Given the description of an element on the screen output the (x, y) to click on. 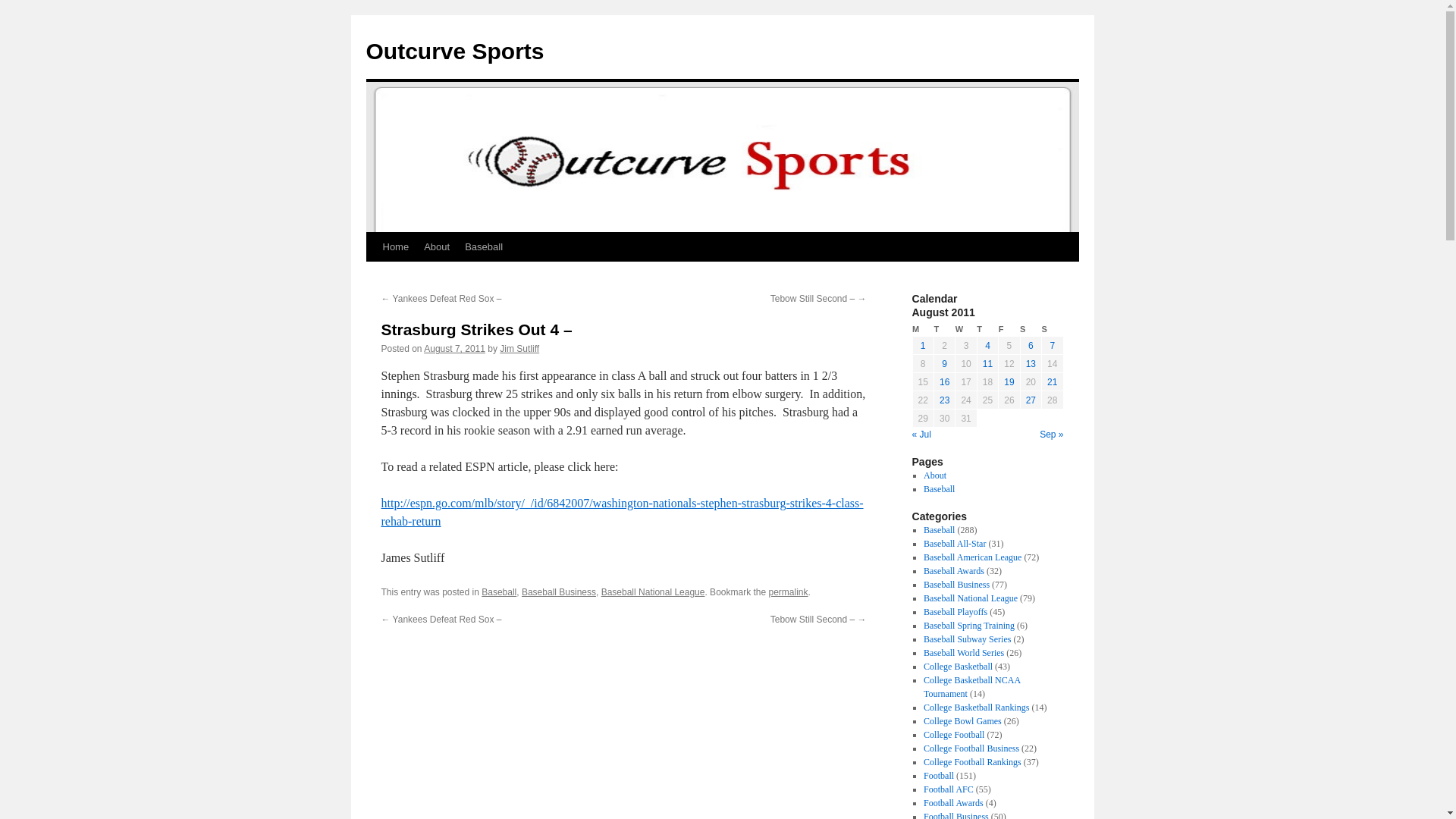
Outcurve Sports (454, 50)
Baseball National League (970, 597)
Baseball Playoffs (955, 611)
Baseball Business (558, 592)
Monday (922, 329)
Tuesday (944, 329)
About (436, 246)
Baseball Awards (953, 570)
Saturday (1030, 329)
Baseball (939, 489)
21 (1051, 381)
7:25 pm (453, 348)
Thursday (986, 329)
Baseball Business (956, 584)
19 (1008, 381)
